Given the description of an element on the screen output the (x, y) to click on. 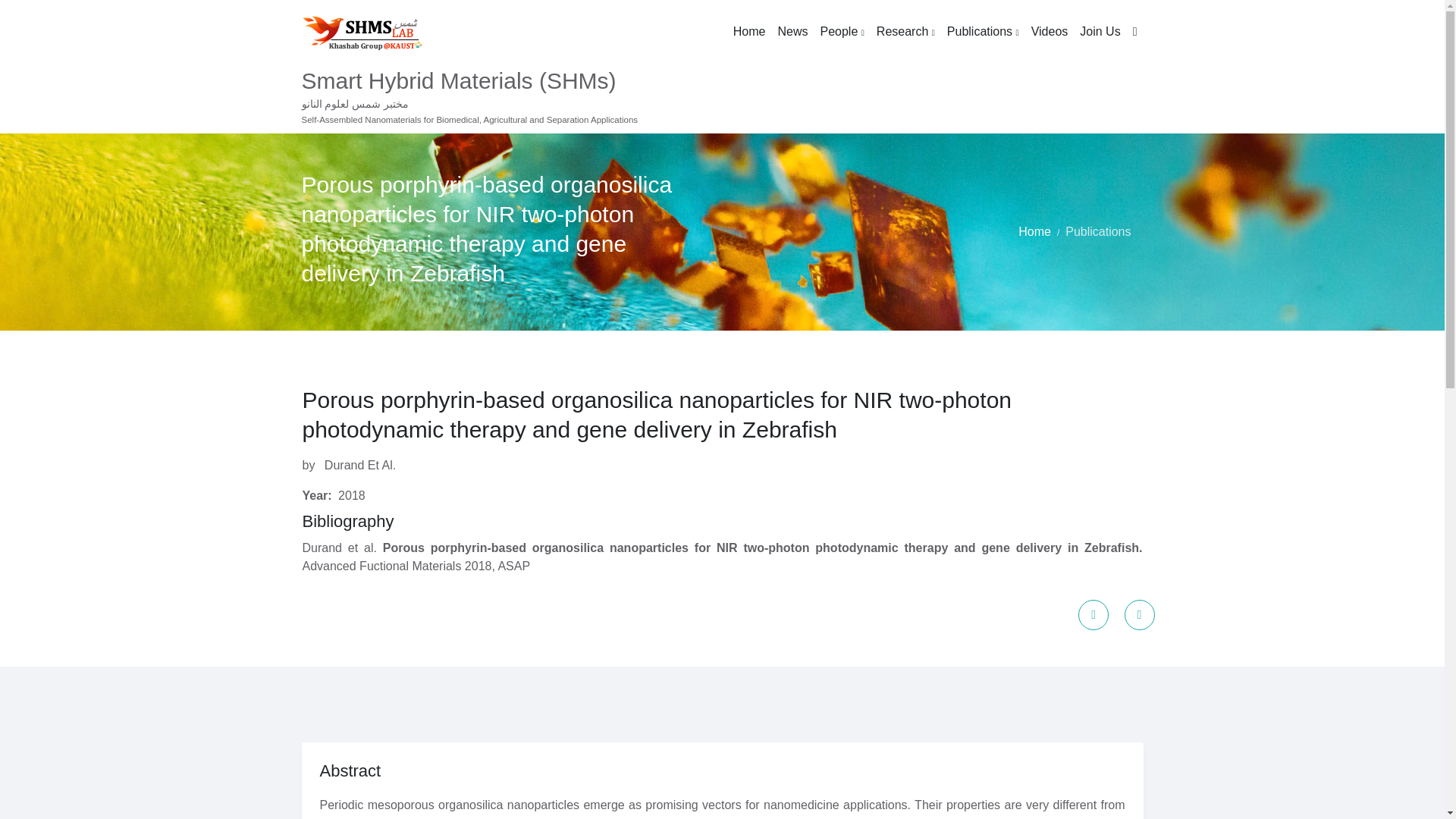
Research (905, 31)
Publications (982, 31)
Home (1034, 231)
